Given the description of an element on the screen output the (x, y) to click on. 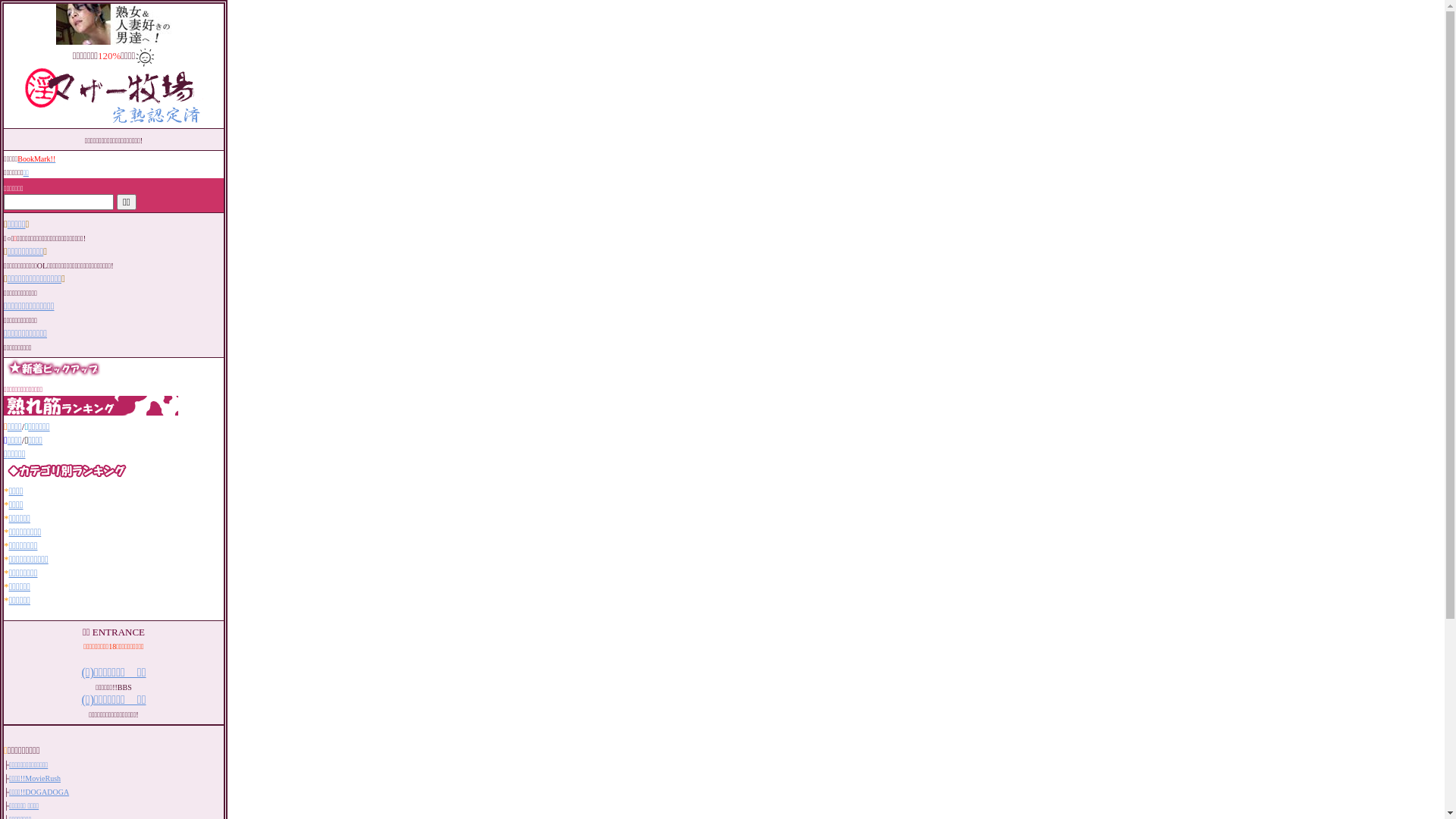
BookMark!! Element type: text (36, 158)
